Given the description of an element on the screen output the (x, y) to click on. 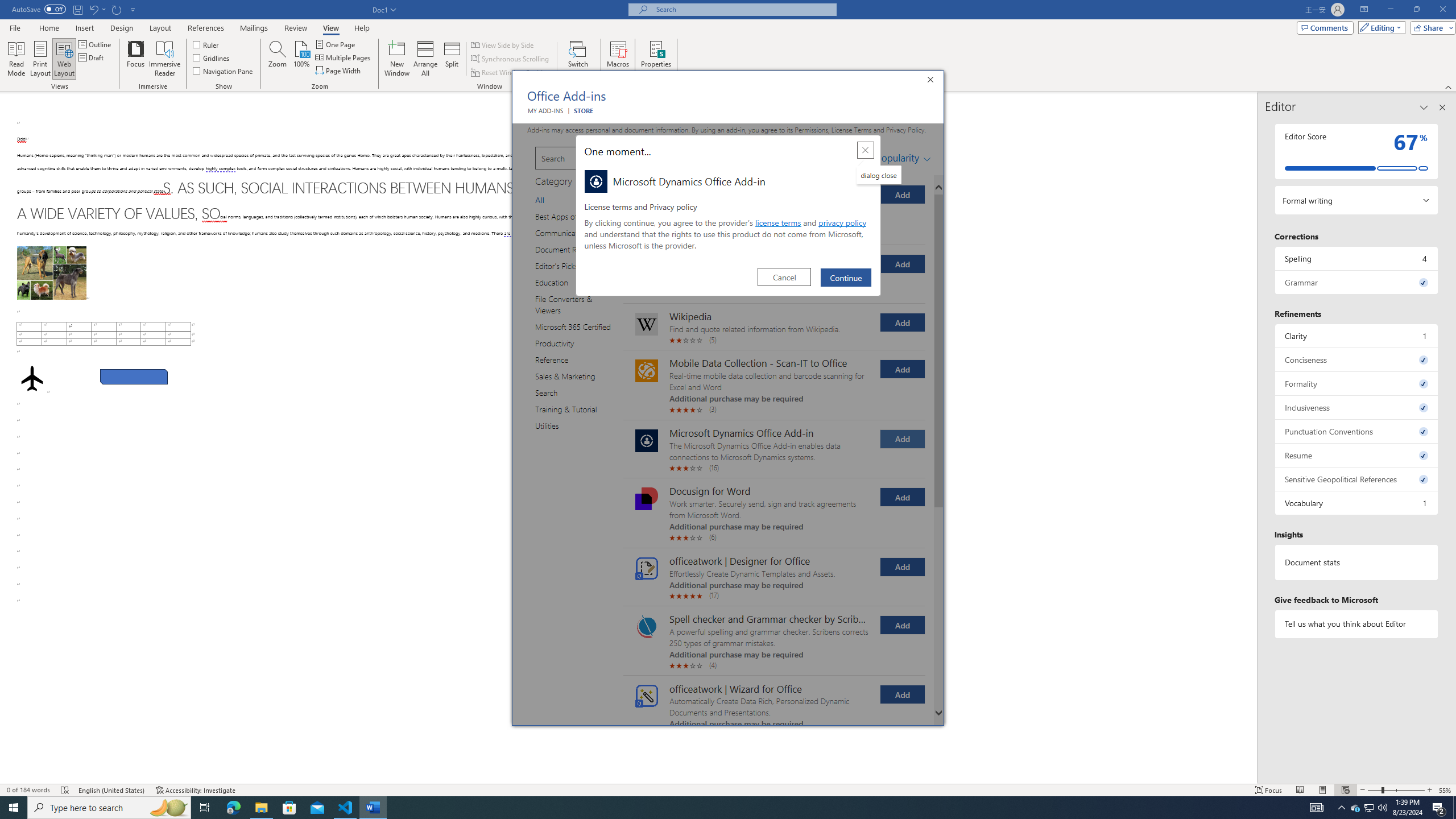
Microsoft Edge (233, 807)
Tell us what you think about Editor (1356, 624)
Resume, 0 issues. Press space or enter to review items. (1356, 454)
Morphological variation in six dogs (51, 272)
Rectangle: Diagonal Corners Snipped 2 (133, 376)
